Given the description of an element on the screen output the (x, y) to click on. 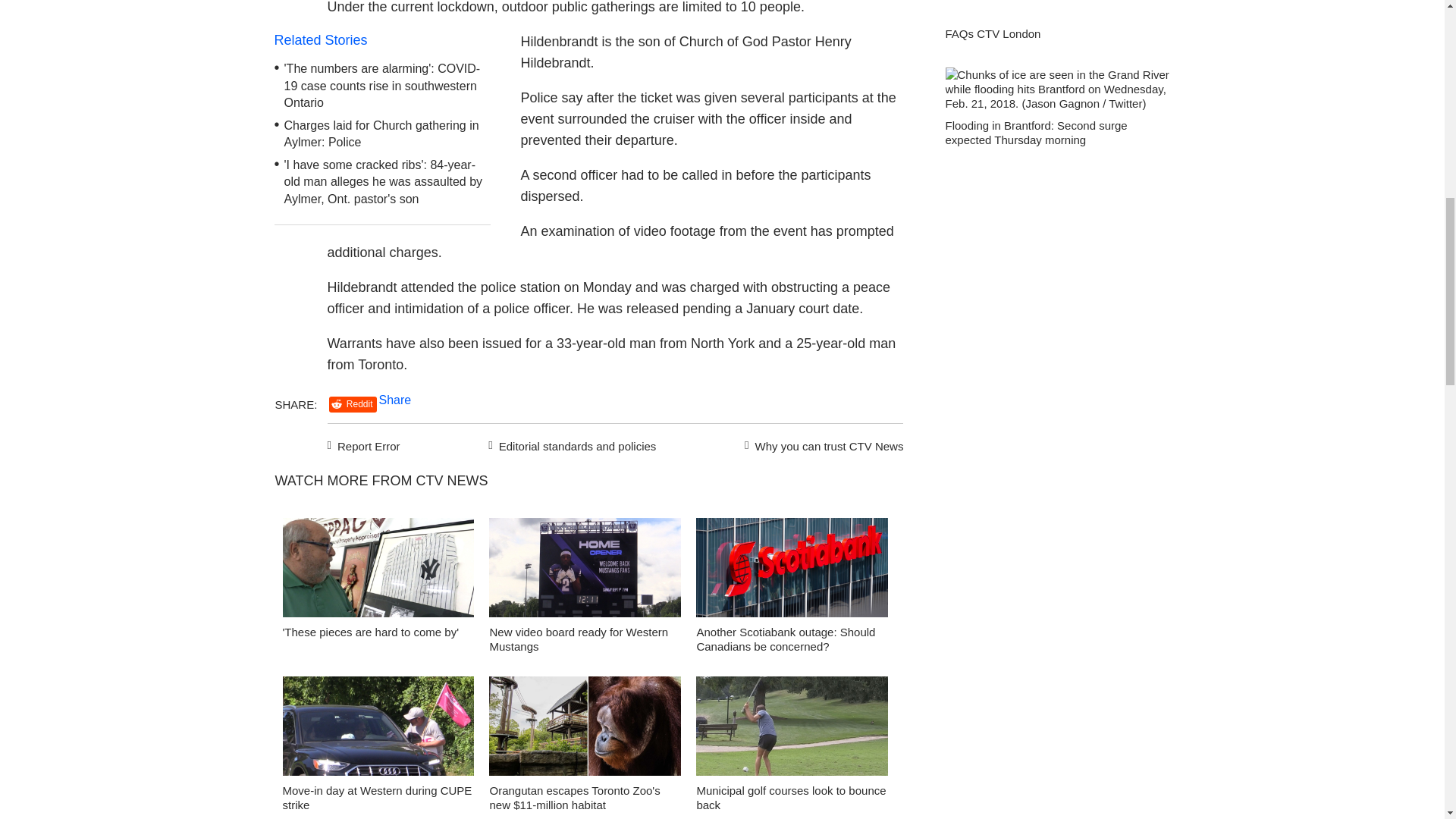
false (585, 567)
false (378, 725)
Move-in day at Western during CUPE strike (376, 797)
Municipal golf courses look to bounce back (791, 729)
false (378, 567)
Two Scotiabank outages in two months (791, 571)
Why you can trust CTV News (820, 444)
false (791, 725)
Share (395, 399)
WESTERN CUPE STRIKE (378, 729)
